Given the description of an element on the screen output the (x, y) to click on. 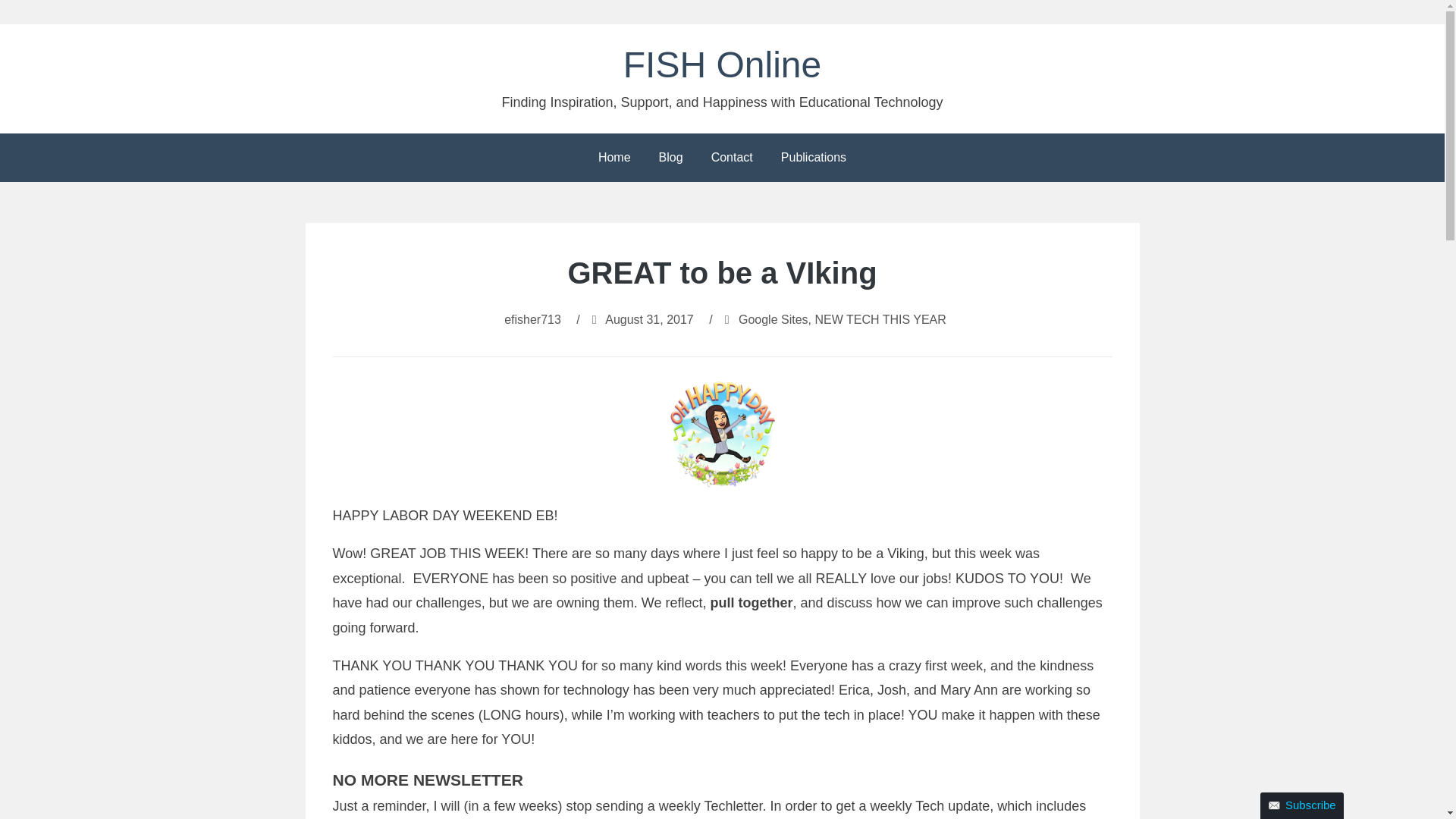
FISH Online (722, 65)
NEW TECH THIS YEAR (878, 318)
Contact (731, 157)
Blog (670, 157)
Home (614, 157)
Publications (813, 157)
efisher713 (531, 318)
Subscribe (1301, 805)
Google Sites (773, 318)
August 31, 2017 (649, 318)
